Given the description of an element on the screen output the (x, y) to click on. 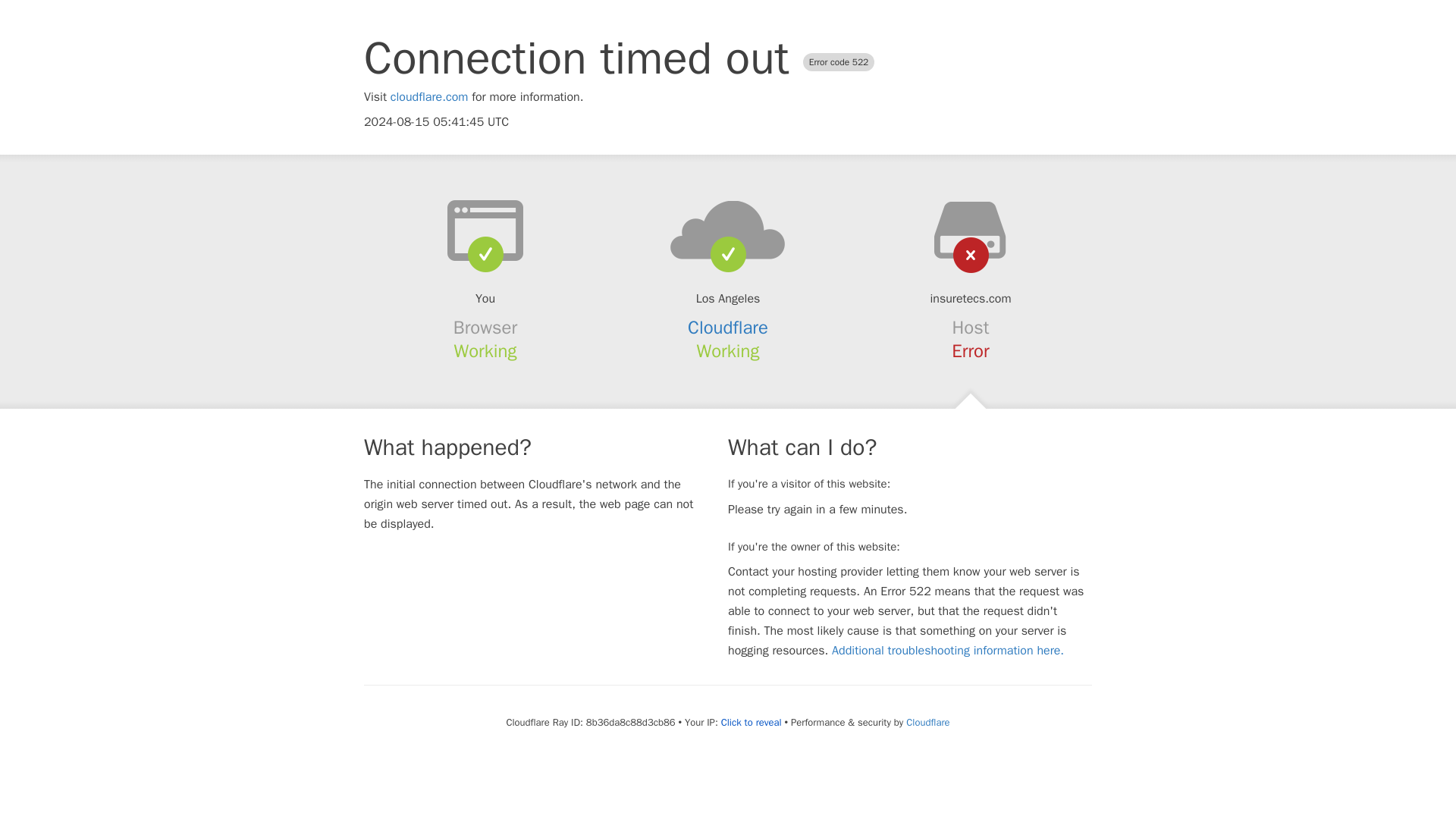
Additional troubleshooting information here. (947, 650)
Click to reveal (750, 722)
Cloudflare (927, 721)
Cloudflare (727, 327)
cloudflare.com (429, 96)
